Given the description of an element on the screen output the (x, y) to click on. 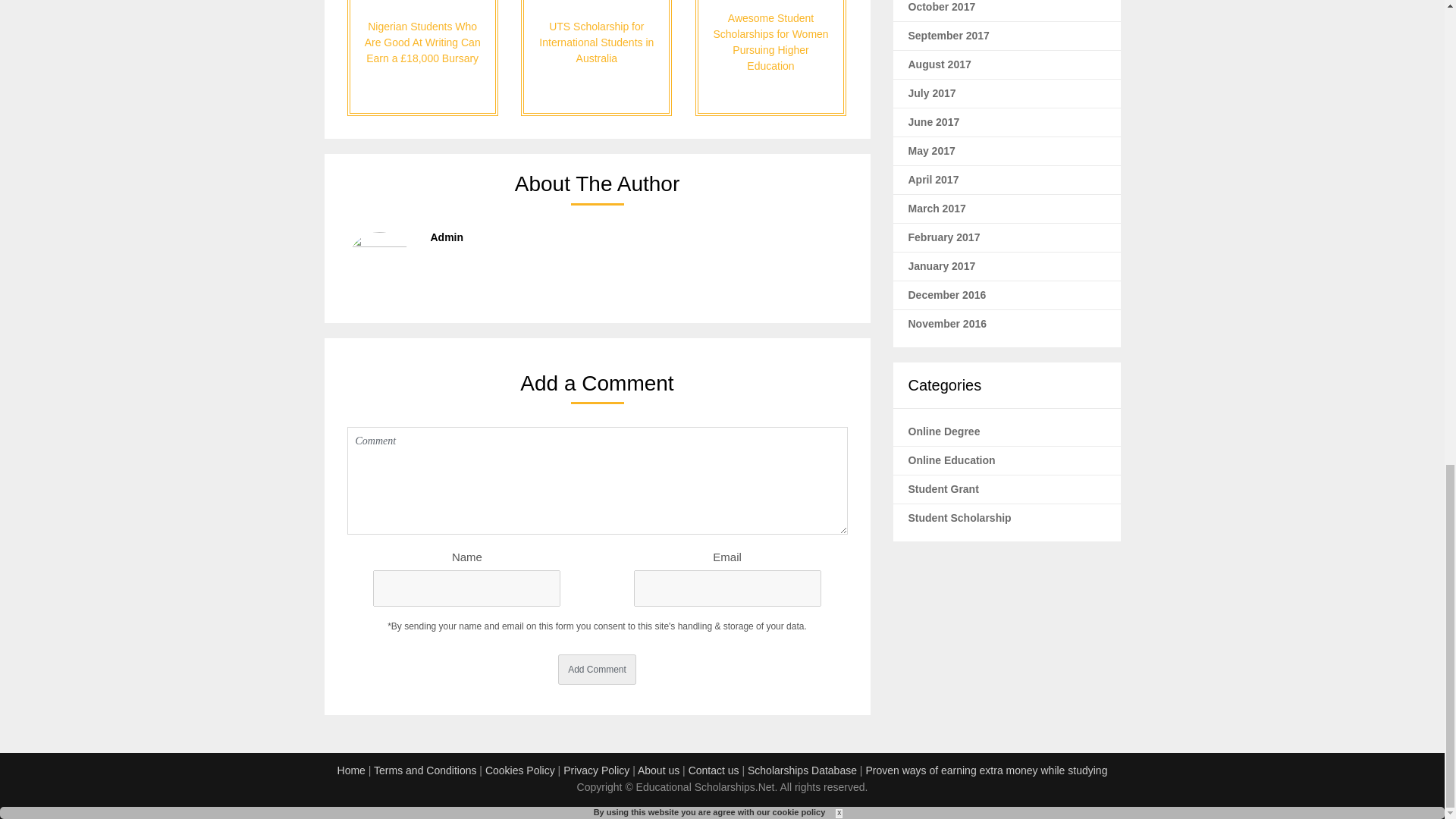
March 2017 (937, 208)
February 2017 (943, 236)
Add Comment (596, 669)
January 2017 (941, 265)
October 2017 (941, 6)
August 2017 (939, 64)
Add Comment (596, 669)
June 2017 (933, 121)
September 2017 (949, 35)
April 2017 (933, 179)
UTS Scholarship for International Students in Australia (596, 58)
July 2017 (932, 92)
May 2017 (931, 150)
